Given the description of an element on the screen output the (x, y) to click on. 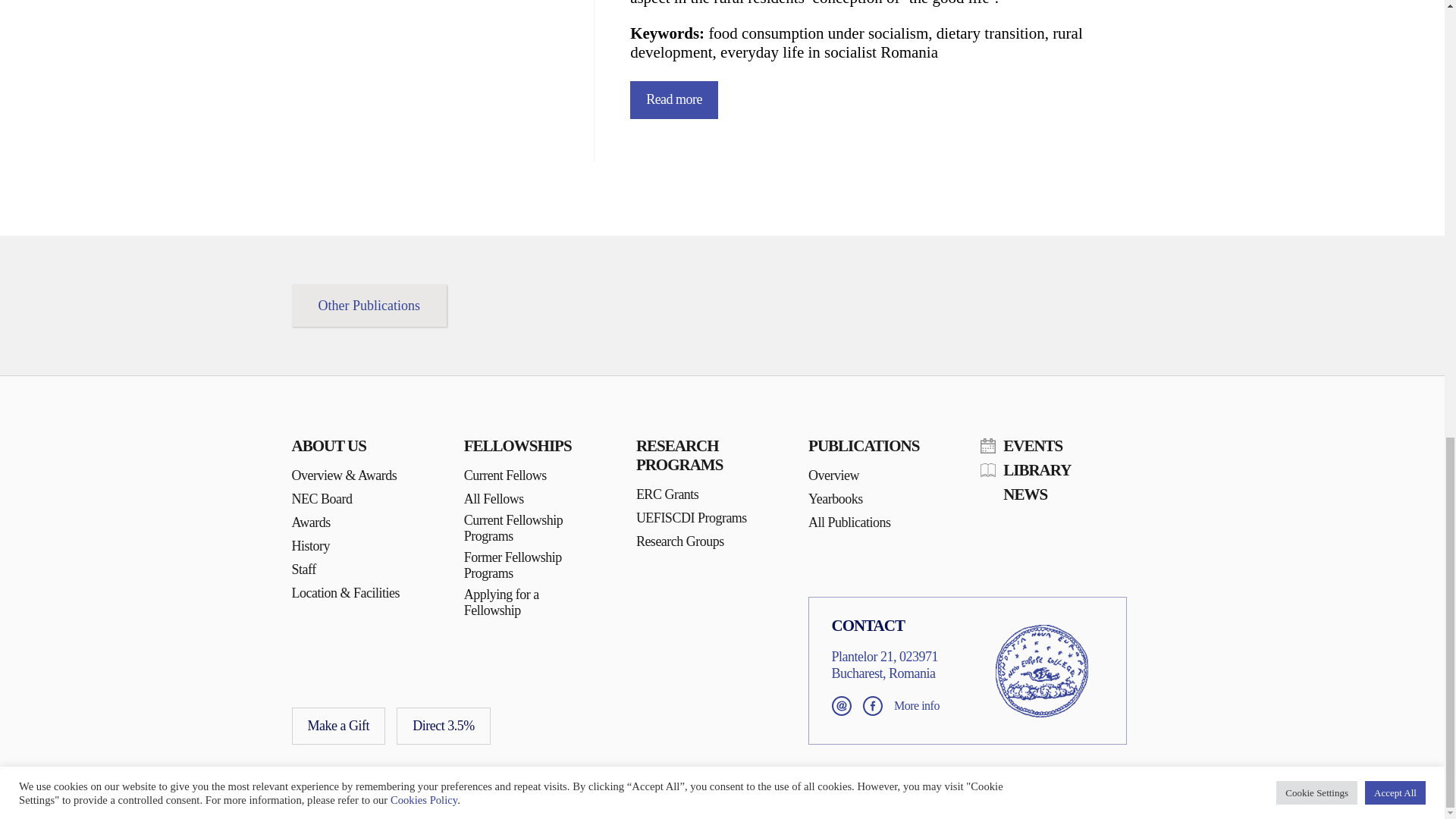
View address on Google Maps (884, 664)
